Given the description of an element on the screen output the (x, y) to click on. 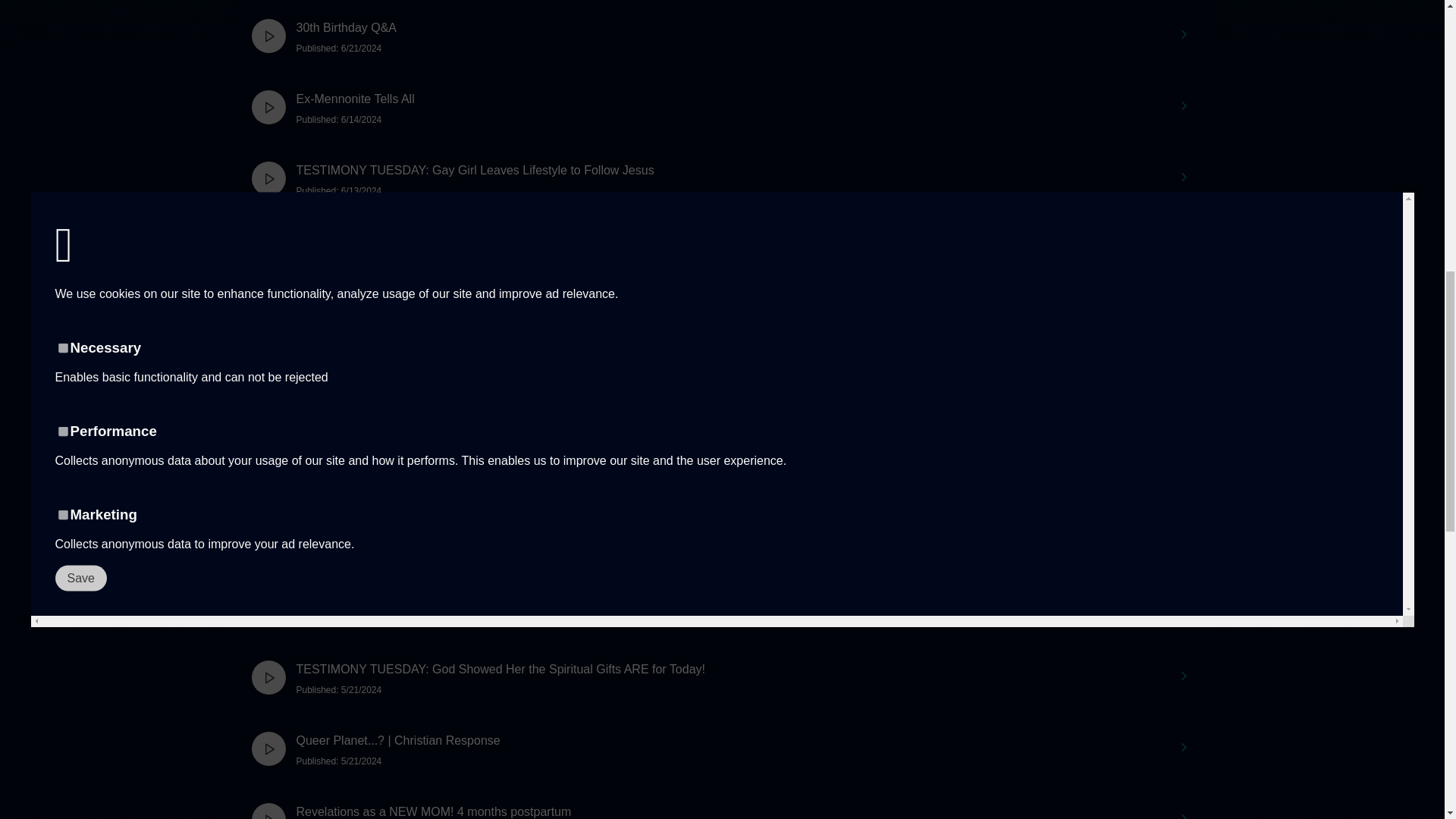
Spela upp avsnitt TAROT IS EVIL! (268, 605)
Spela upp avsnitt Ex-Mennonite Tells All (268, 107)
Spela upp avsnitt IT'S PRIDE MONTH AGAIN... my thoughts (268, 392)
